Given the description of an element on the screen output the (x, y) to click on. 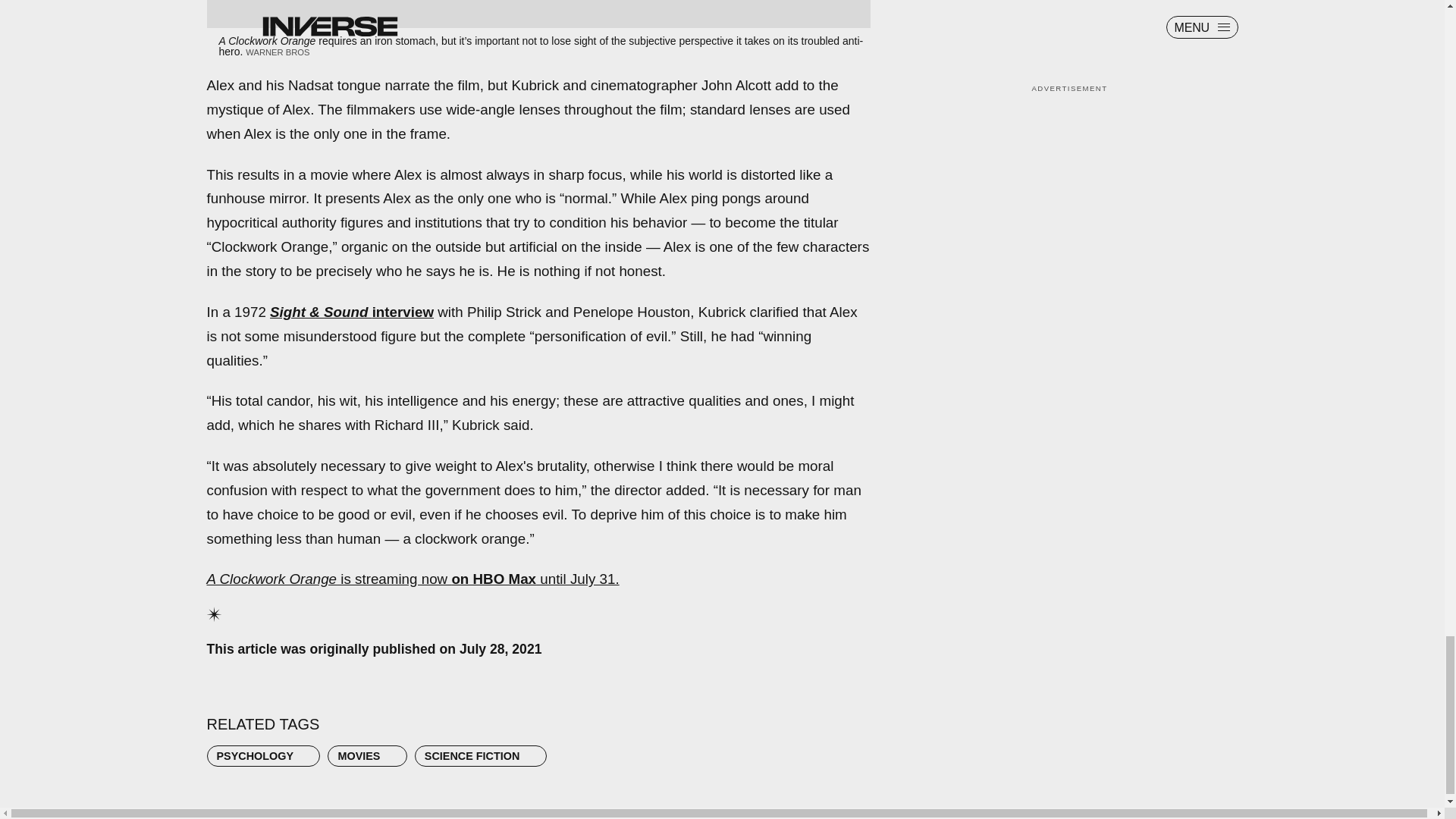
SCIENCE FICTION (480, 755)
PSYCHOLOGY (263, 755)
interview (402, 311)
on HBO Max (493, 578)
MOVIES (366, 755)
